Given the description of an element on the screen output the (x, y) to click on. 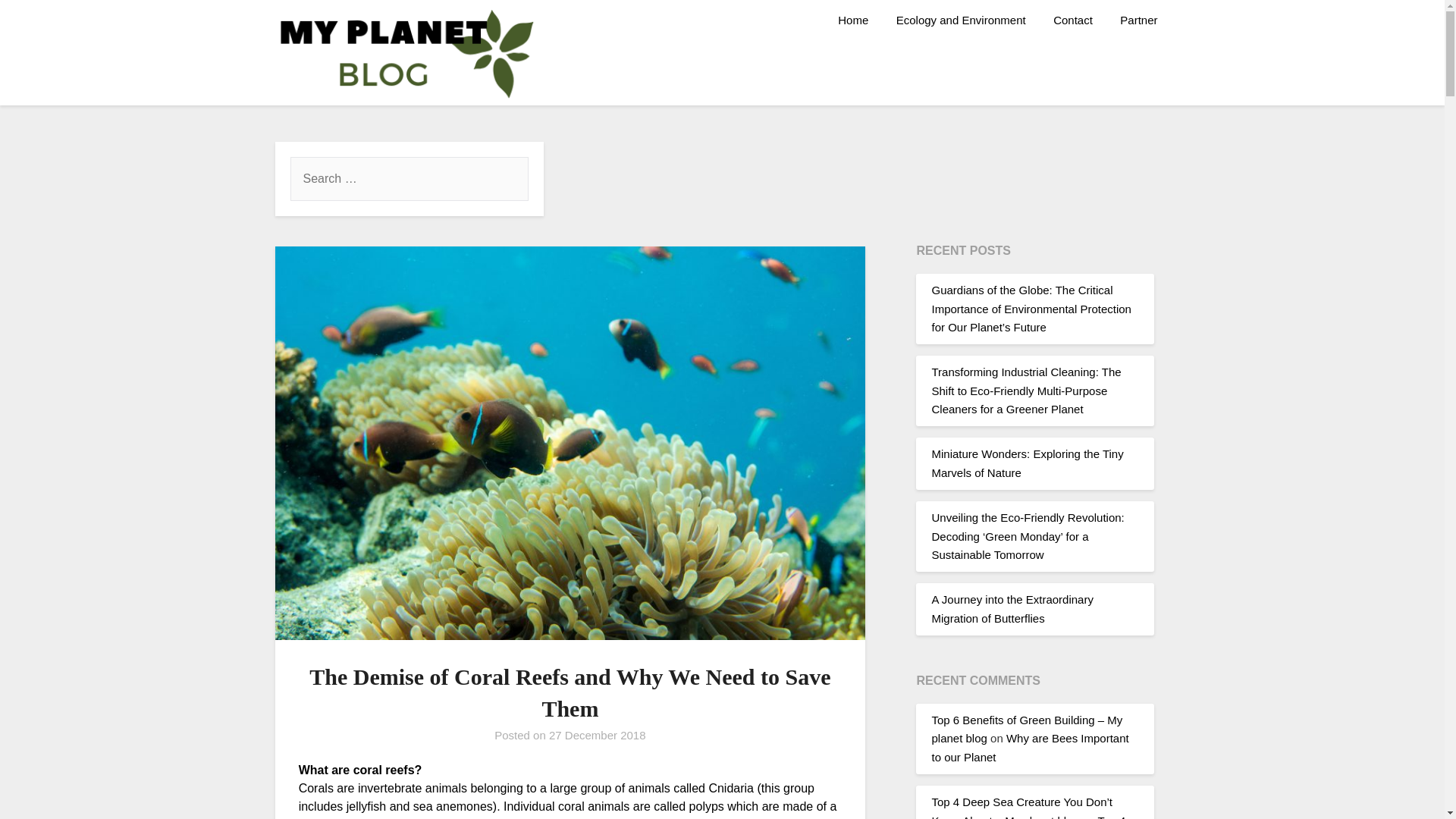
Top 4 Most Bizarre Creatures On Earth (1028, 816)
A Journey into the Extraordinary Migration of Butterflies (1012, 608)
27 December 2018 (597, 735)
Contact (1073, 20)
Why are Bees Important to our Planet (1029, 747)
Home (852, 20)
Miniature Wonders: Exploring the Tiny Marvels of Nature (1026, 462)
Partner (1138, 20)
Ecology and Environment (960, 20)
